Given the description of an element on the screen output the (x, y) to click on. 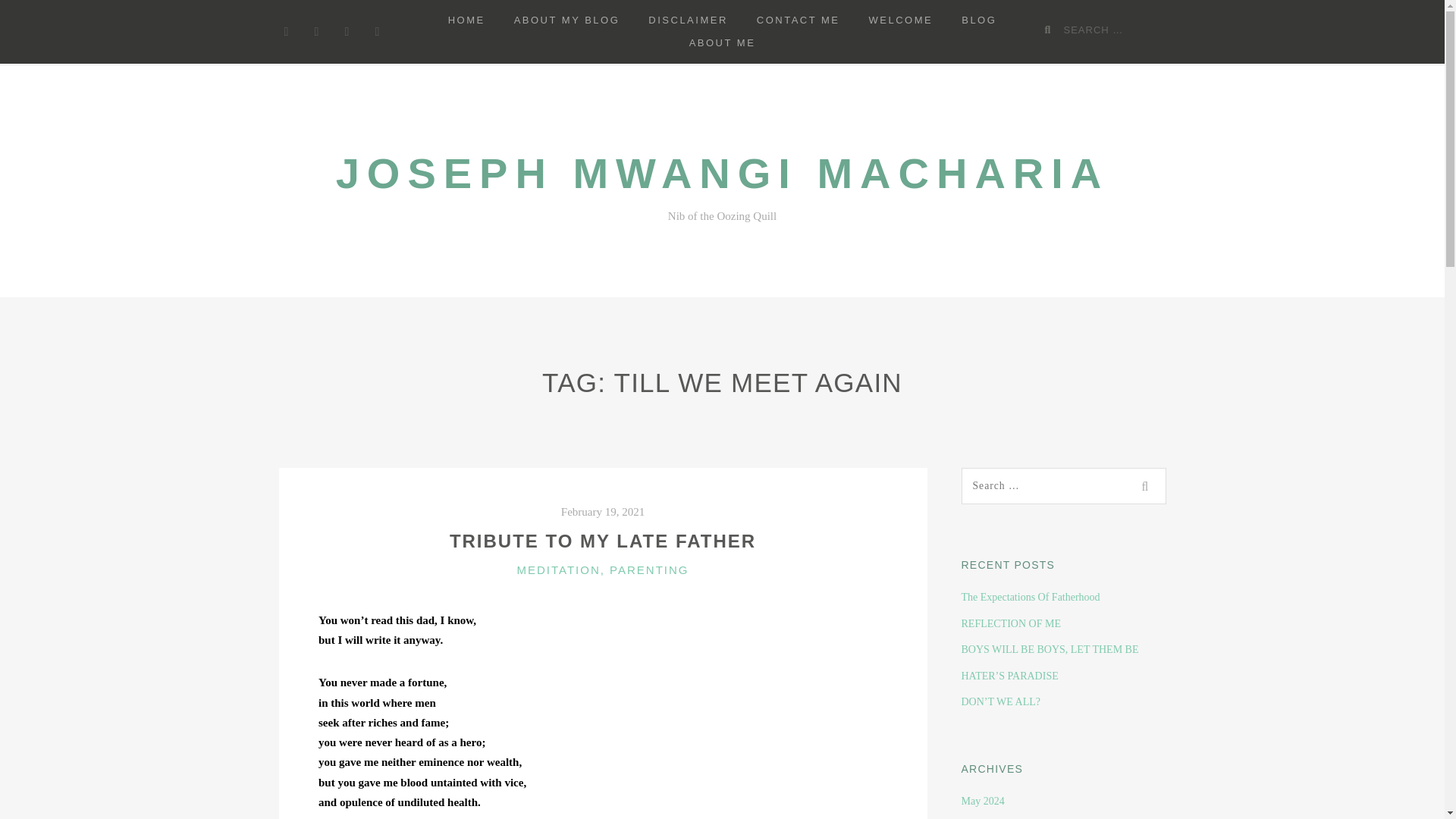
REFLECTION OF ME (1010, 623)
Instagram (377, 31)
Search (1147, 485)
WELCOME (901, 20)
Facebook (286, 31)
ABOUT ME (722, 42)
LinkedIn (347, 31)
CONTACT ME (798, 20)
HOME (466, 20)
February 19, 2021 (602, 511)
